Given the description of an element on the screen output the (x, y) to click on. 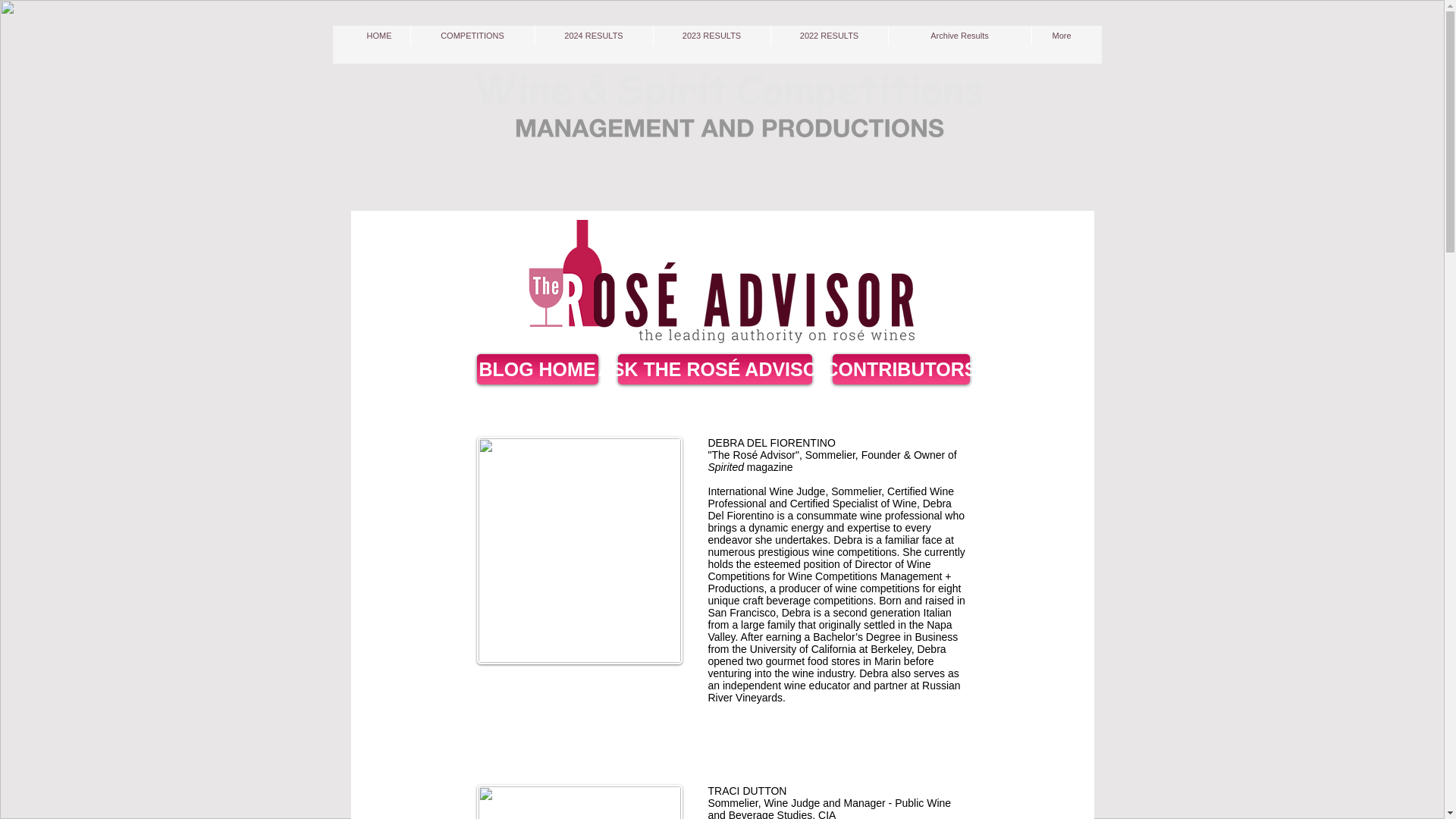
COMPETITIONS (472, 35)
HOME (379, 35)
2022 RESULTS (828, 35)
2024 RESULTS (593, 35)
2023 RESULTS (711, 35)
